Given the description of an element on the screen output the (x, y) to click on. 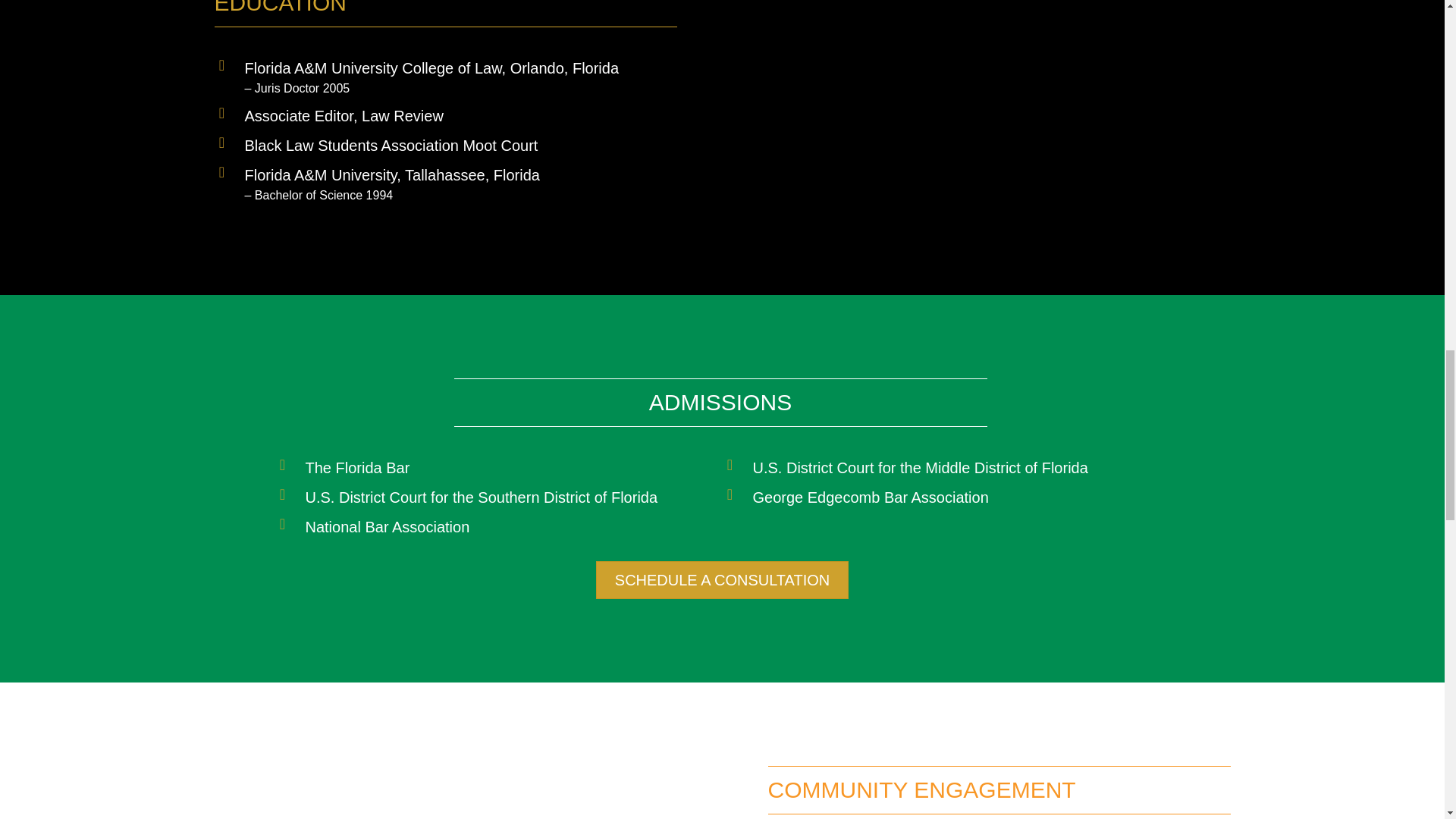
SCHEDULE A CONSULTATION (721, 579)
